Given the description of an element on the screen output the (x, y) to click on. 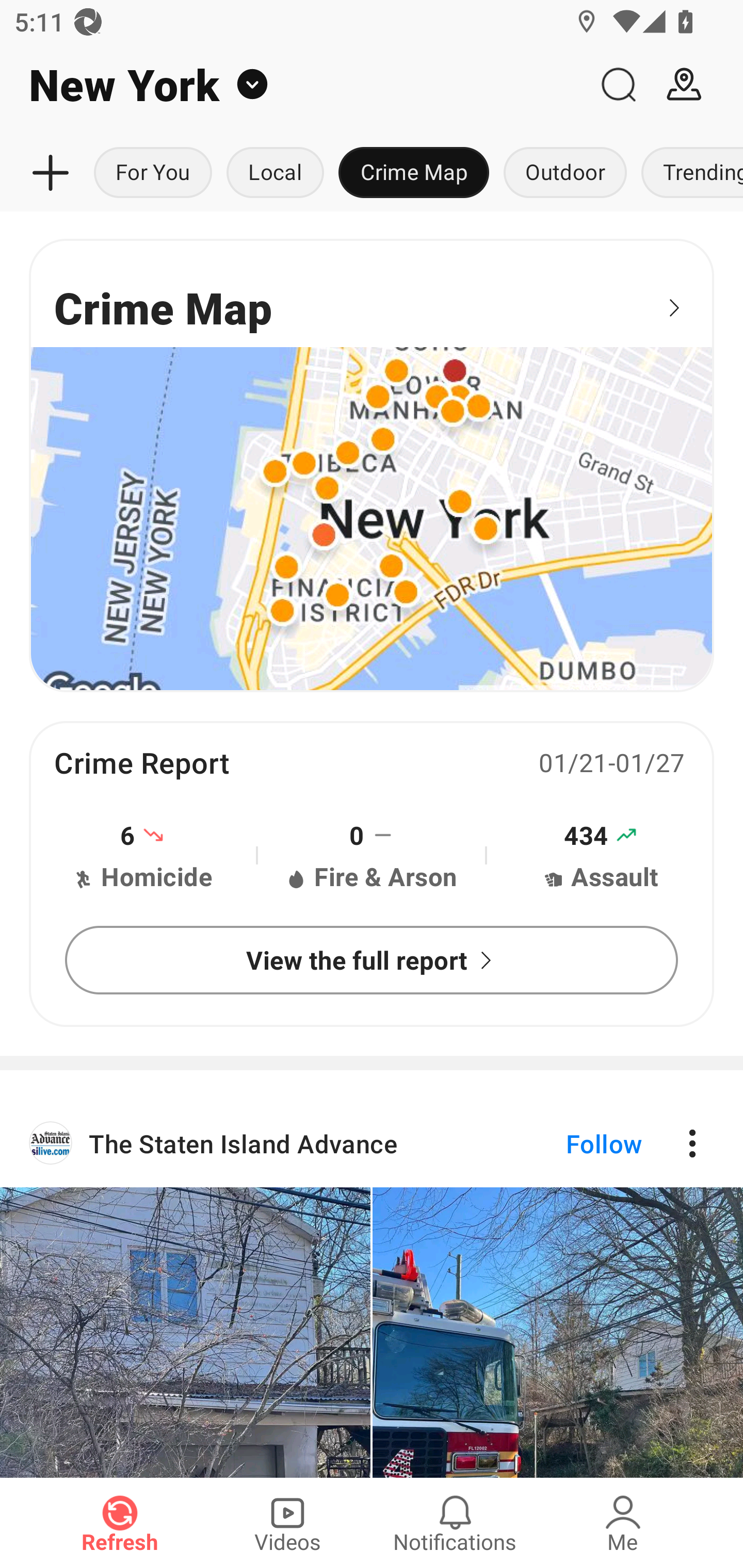
New York (292, 84)
For You (152, 172)
Local (275, 172)
Crime Map (413, 172)
Outdoor (564, 172)
Trending (688, 172)
Crime Map (371, 464)
View the full report (371, 959)
The Staten Island Advance Follow (371, 1288)
The Staten Island Advance Follow (371, 1142)
Follow (569, 1142)
Videos (287, 1522)
Notifications (455, 1522)
Me (622, 1522)
